Given the description of an element on the screen output the (x, y) to click on. 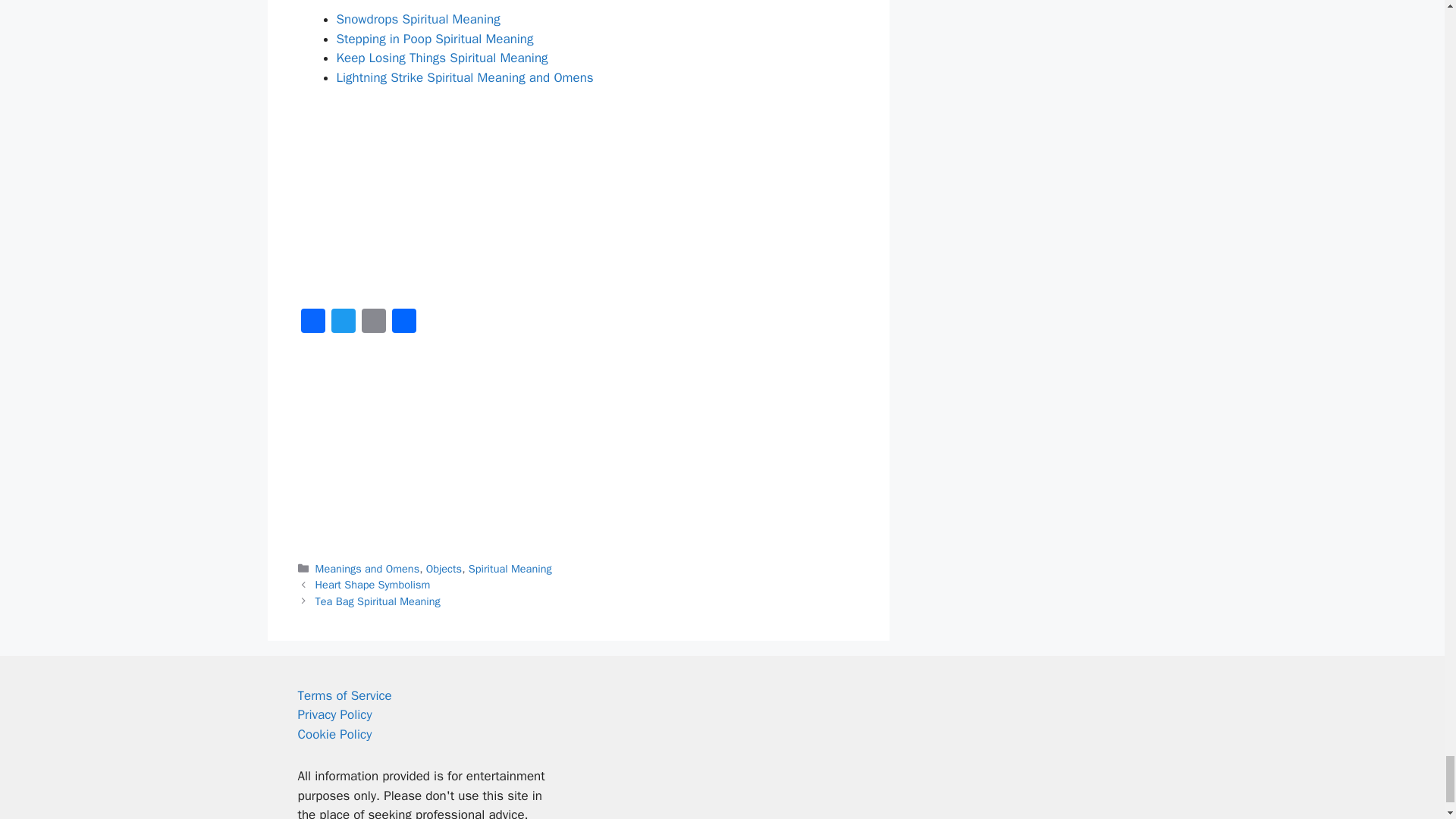
Cookie Policy (334, 734)
Lightning Strike Spiritual Meaning and Omens (465, 77)
Heart Shape Symbolism (372, 584)
Email (373, 322)
Tea Bag Spiritual Meaning (378, 601)
Keep Losing Things Spiritual Meaning (442, 57)
Facebook (312, 322)
Stepping in Poop Spiritual Meaning (435, 38)
Facebook (312, 322)
Spiritual Meaning (509, 568)
